Given the description of an element on the screen output the (x, y) to click on. 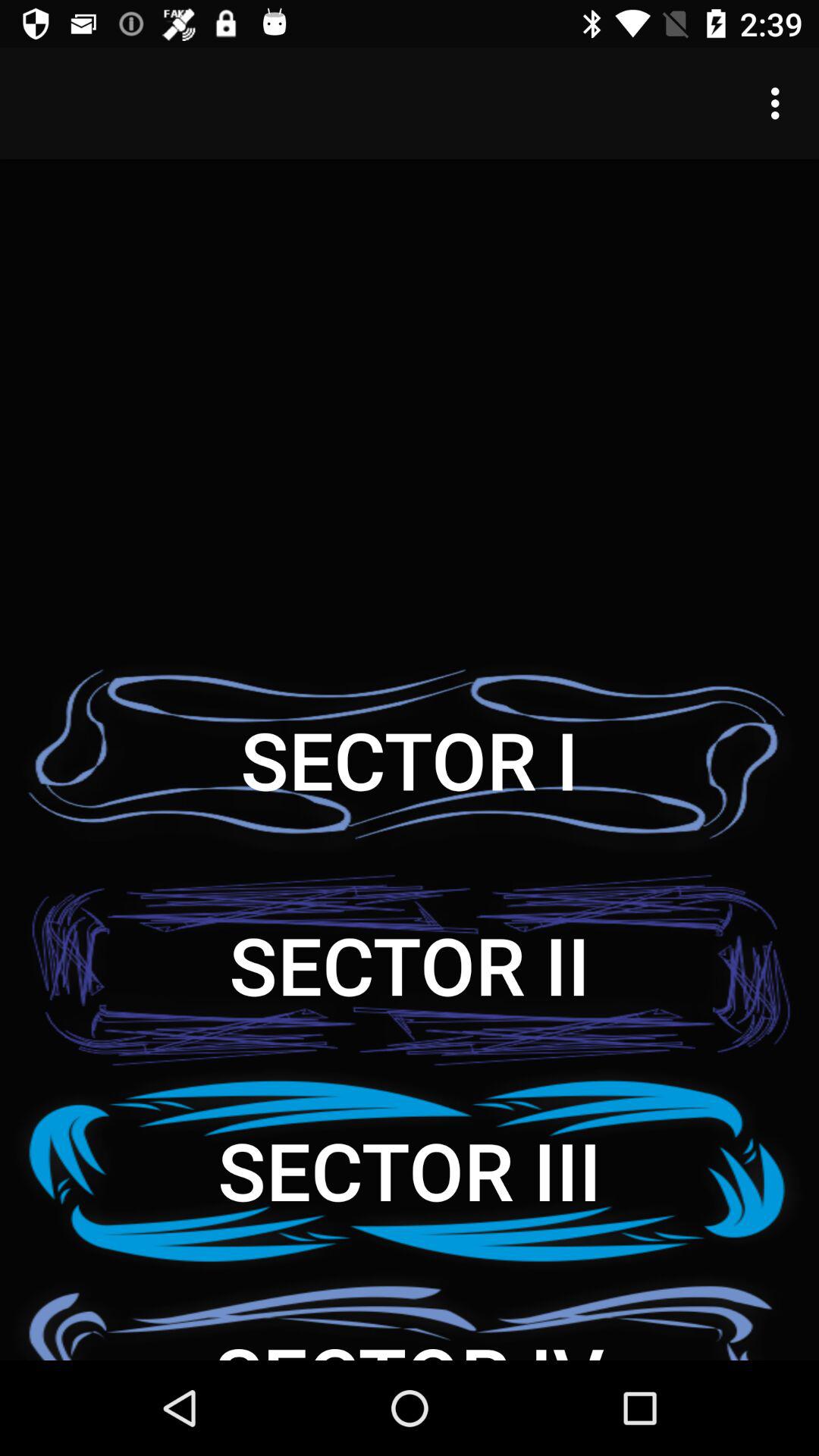
open the icon at the top right corner (779, 103)
